Given the description of an element on the screen output the (x, y) to click on. 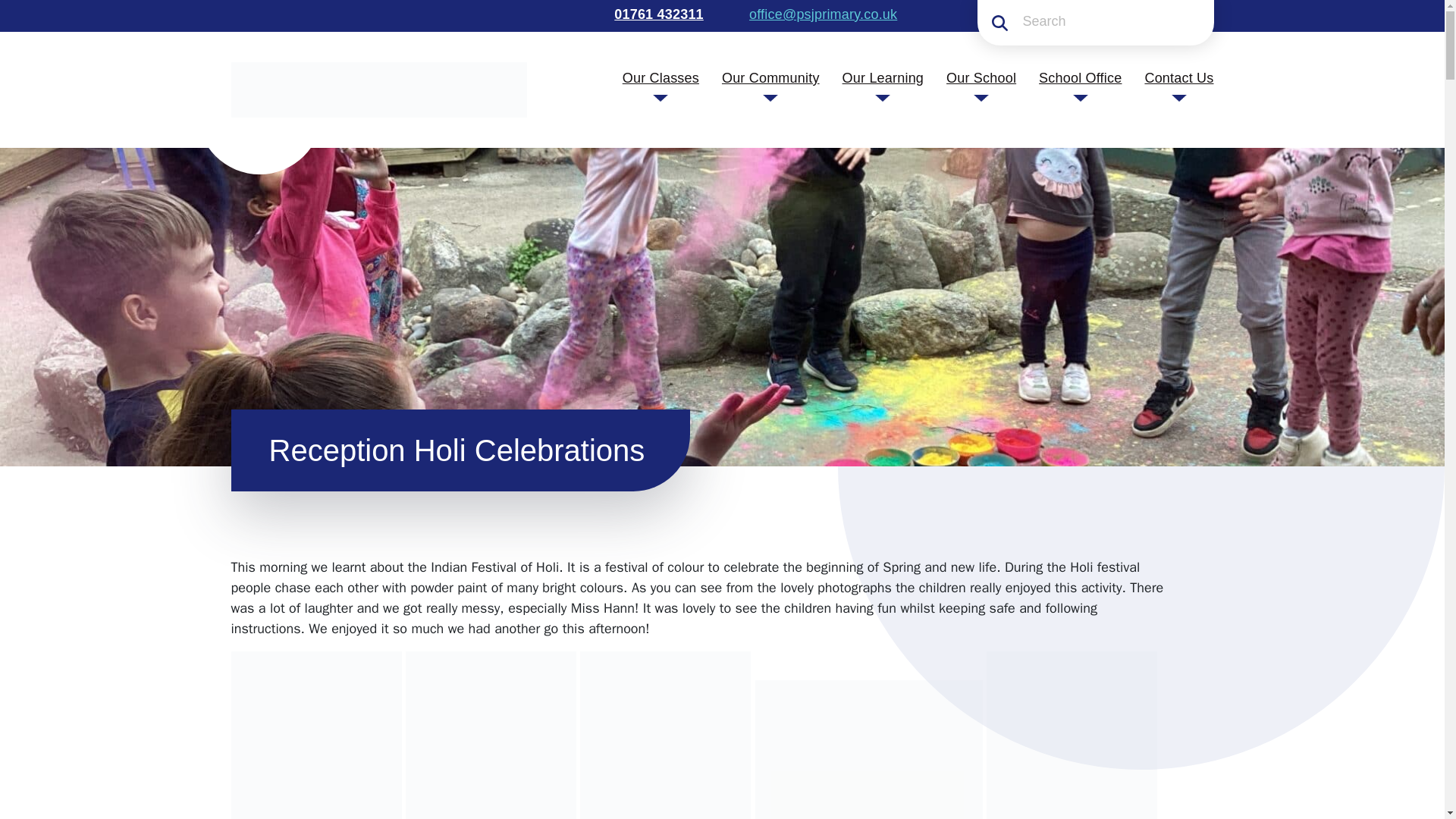
01761 432311 (656, 14)
Our Community (770, 77)
Our Classes (660, 77)
Our School (981, 77)
Our Classes (660, 77)
Our Learning (883, 77)
Our Community (770, 77)
